Given the description of an element on the screen output the (x, y) to click on. 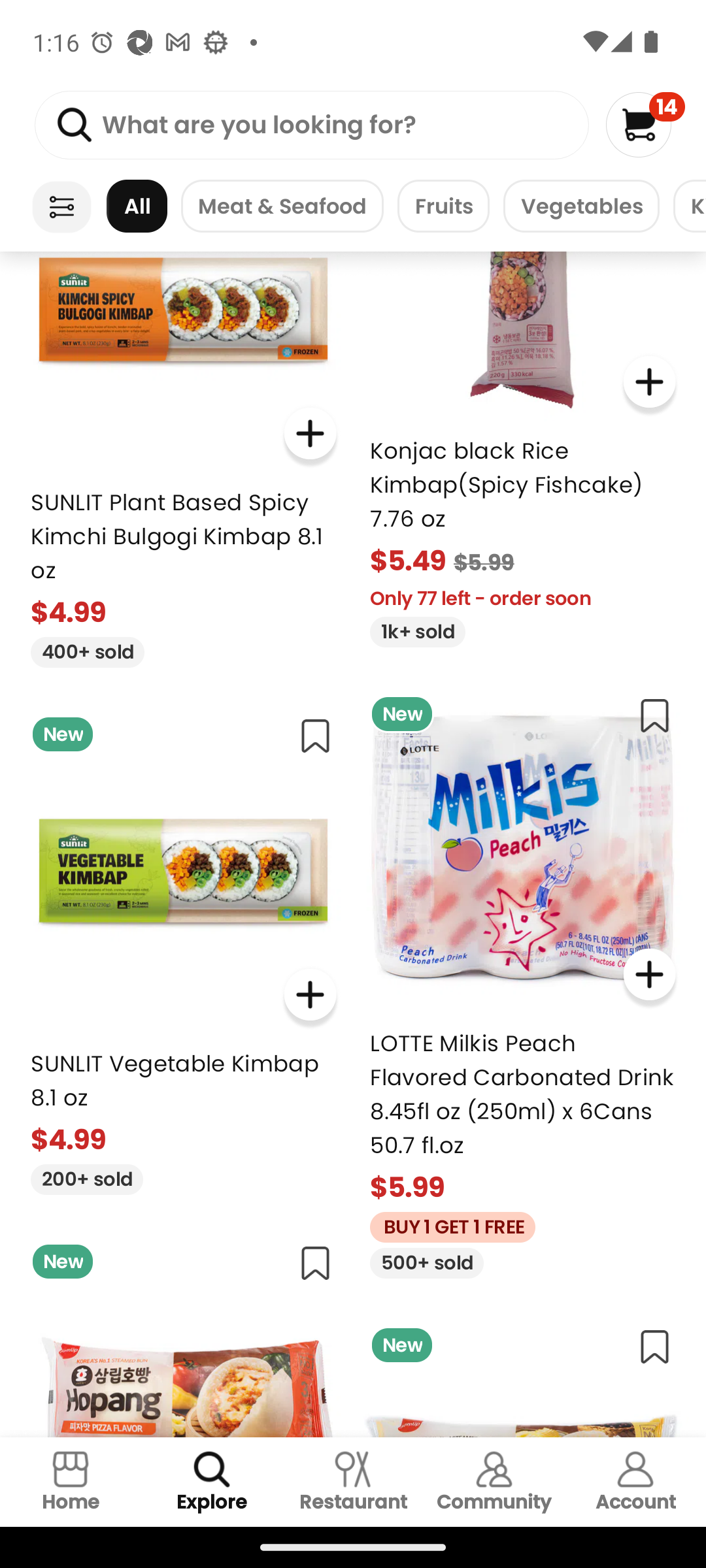
What are you looking for? (311, 124)
14 (644, 124)
All (136, 206)
Meat & Seafood (282, 206)
Fruits (443, 206)
Vegetables (581, 206)
New SUNLIT Vegetable Kimbap 8.1 oz $4.99 200+ sold (182, 948)
BUY 1 GET 1 FREE (445, 1224)
Home (70, 1482)
Explore (211, 1482)
Restaurant (352, 1482)
Community (493, 1482)
Account (635, 1482)
